Given the description of an element on the screen output the (x, y) to click on. 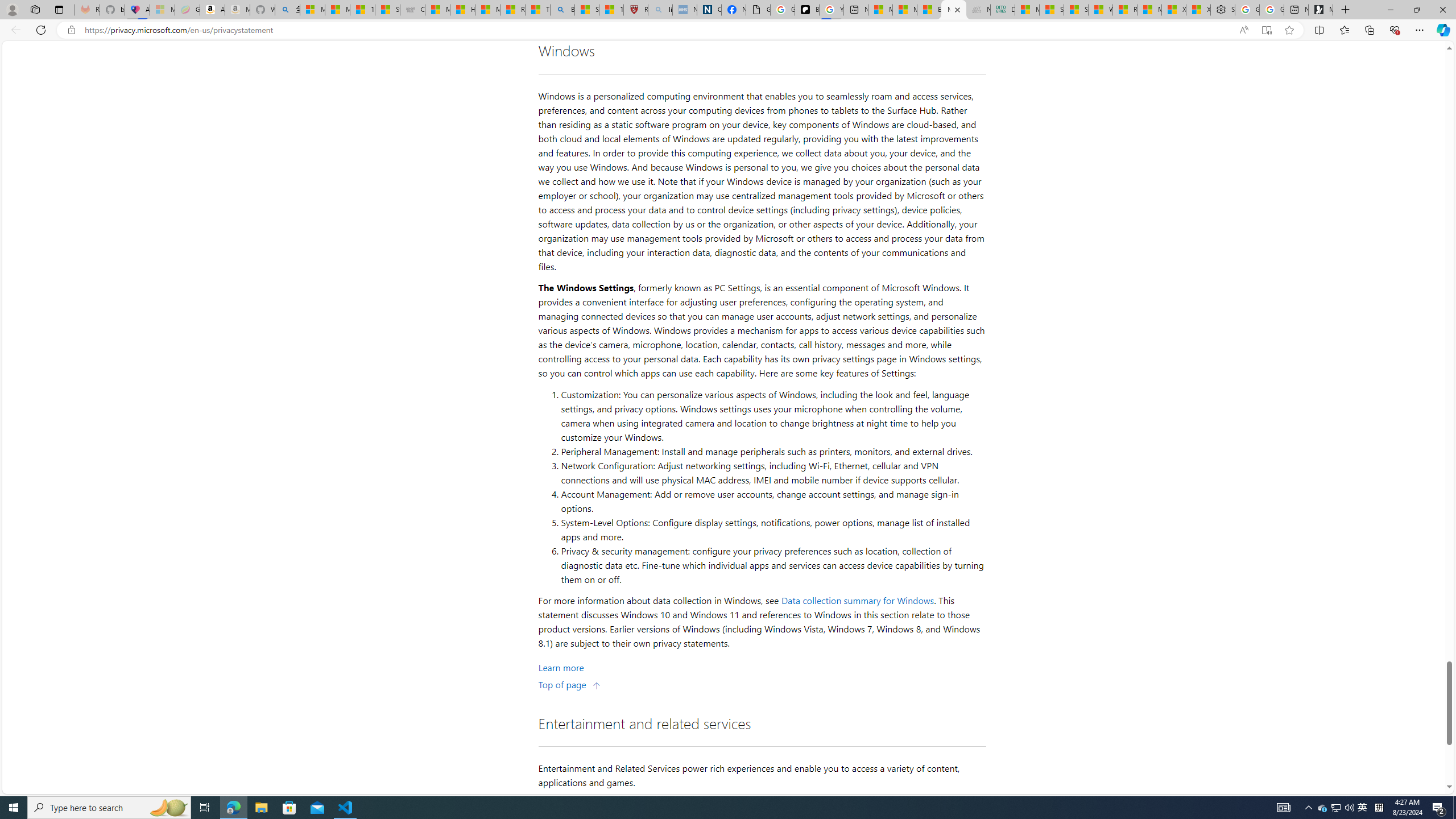
Learn More about Windows (560, 667)
Data collection summary for Windows (857, 600)
Enter Immersive Reader (F9) (1266, 29)
Top of page (569, 684)
